Given the description of an element on the screen output the (x, y) to click on. 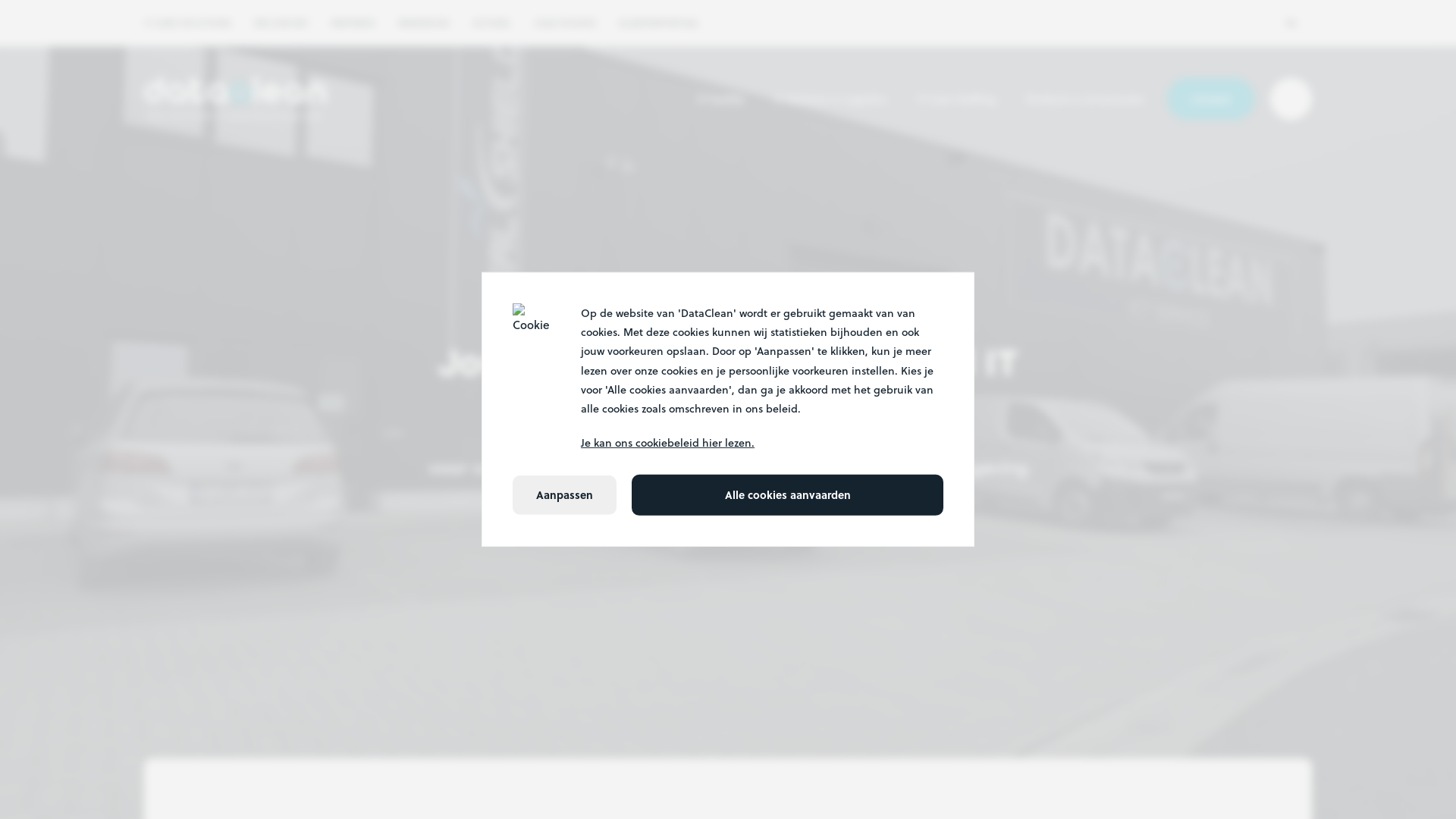
Products & Accessories Element type: text (1084, 98)
PARTNERS Element type: text (352, 23)
ACTUEEL Element type: text (491, 23)
IT CARE SOLUTIONS Element type: text (187, 23)
IT Care Staffing Element type: text (956, 98)
Contact Element type: text (1211, 98)
IT Facility Element type: text (720, 98)
WERKEN BIJ Element type: text (423, 23)
CASE STUDIES Element type: text (564, 23)
Alle cookies aanvaarden Element type: text (787, 494)
Je kan ons cookiebeleid hier lezen. Element type: text (761, 442)
IT Technics & Logistics Element type: text (830, 98)
Zoeken Element type: text (1290, 98)
NL Element type: text (1300, 23)
Aanpassen Element type: text (564, 494)
KLANTENPORTAAL Element type: text (658, 23)
WIE ZIJN WIJ Element type: text (280, 23)
